Given the description of an element on the screen output the (x, y) to click on. 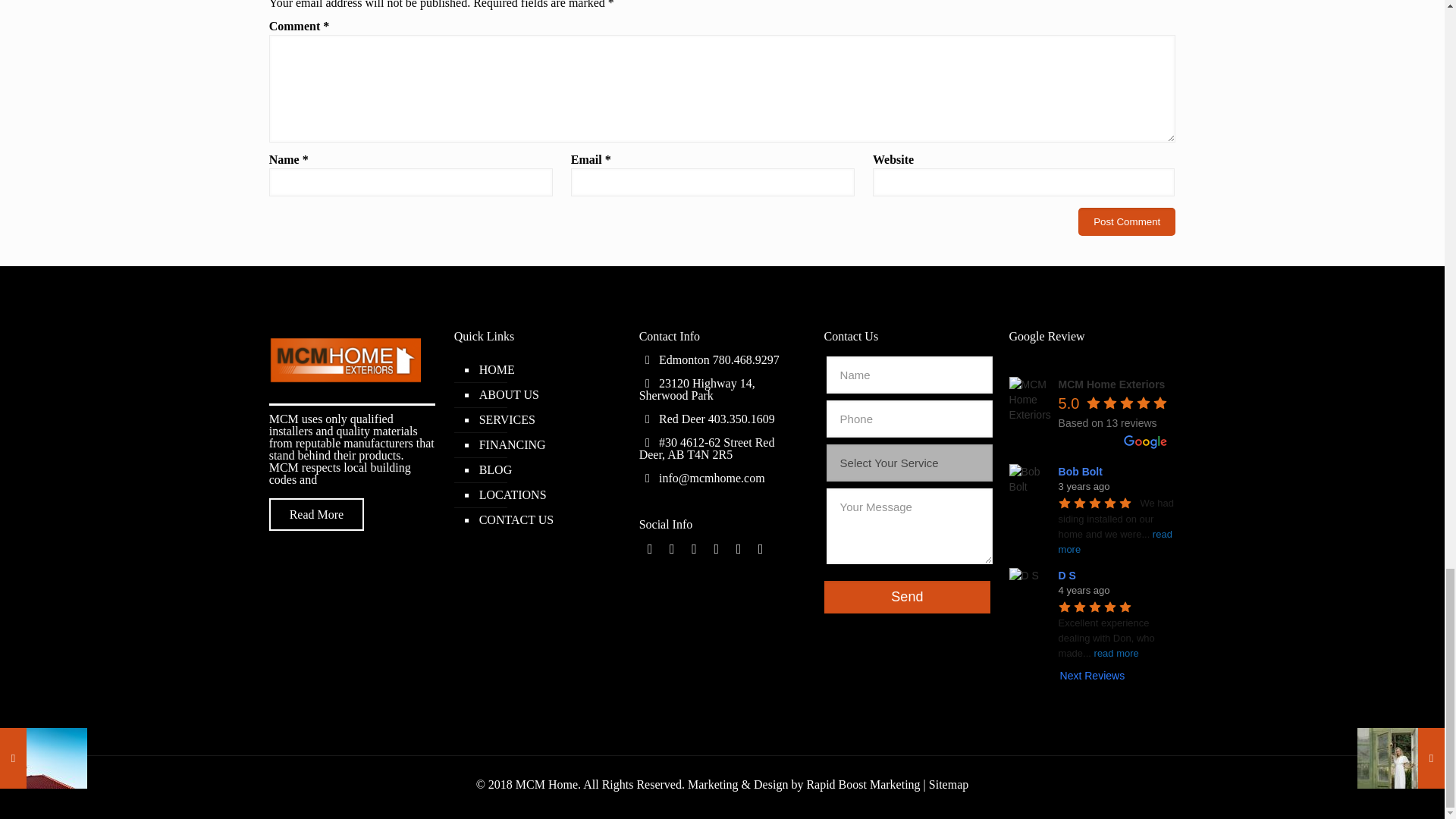
Send (907, 596)
Post Comment (1126, 221)
